Given the description of an element on the screen output the (x, y) to click on. 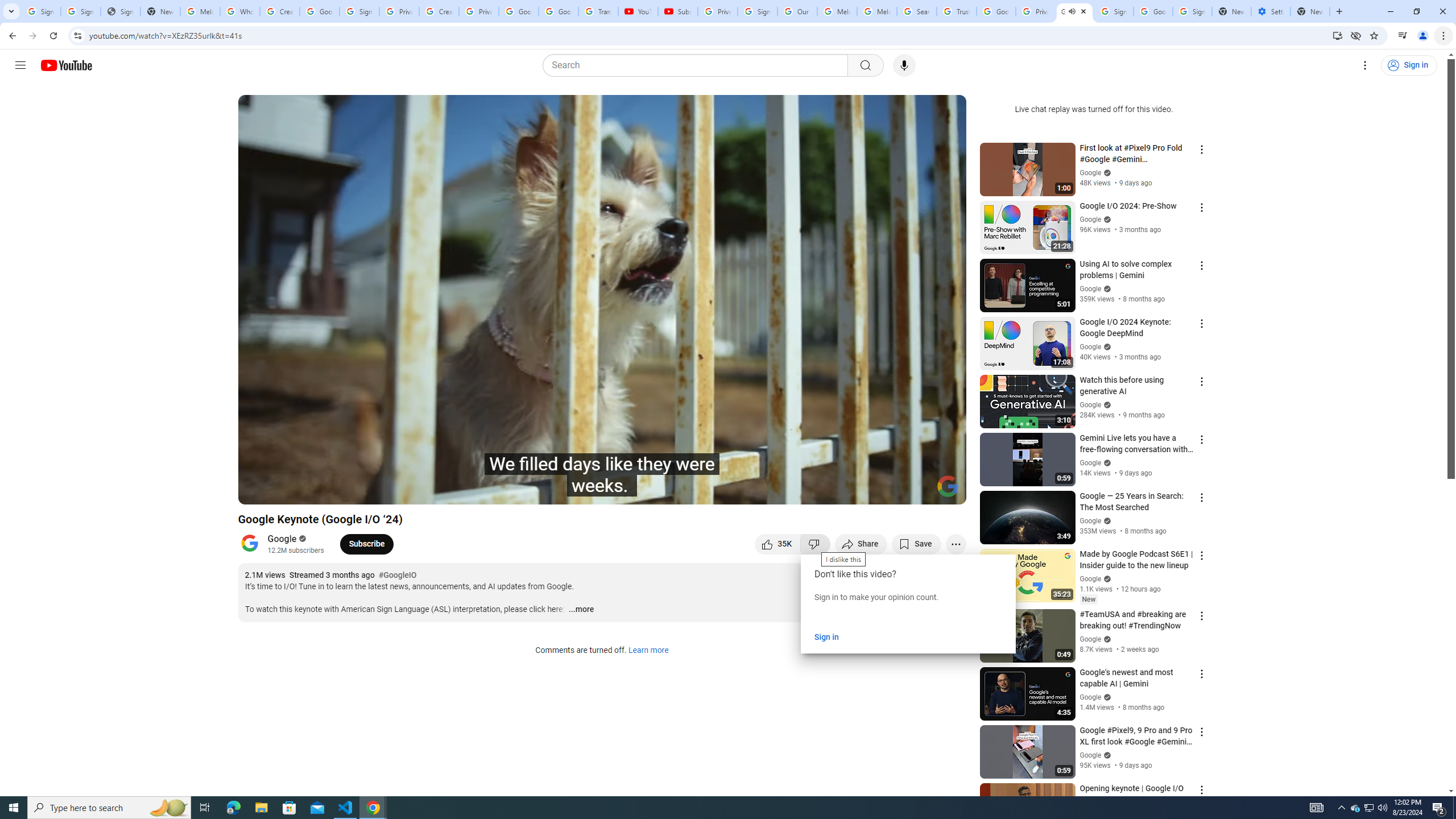
Verified (1106, 755)
Google Ads - Sign in (995, 11)
Trusted Information and Content - Google Safety Center (956, 11)
Share (861, 543)
Mute (m) (312, 490)
Save to playlist (915, 543)
Channel watermark (947, 486)
Sign in - Google Accounts (757, 11)
